Given the description of an element on the screen output the (x, y) to click on. 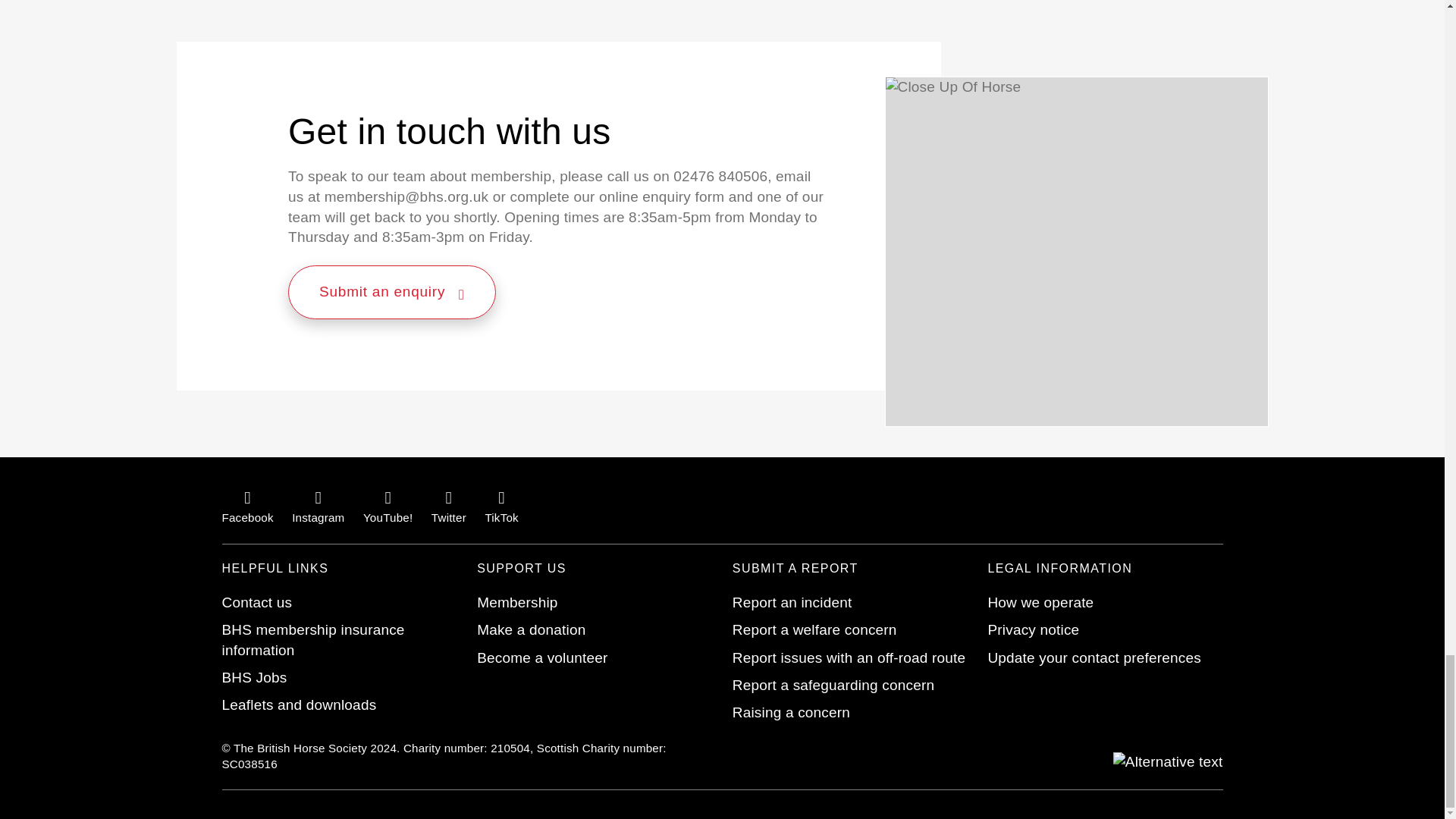
The BHS instagram profile (317, 506)
The BHS Youtube profile (387, 506)
The BHS Facebook profile (247, 506)
